Given the description of an element on the screen output the (x, y) to click on. 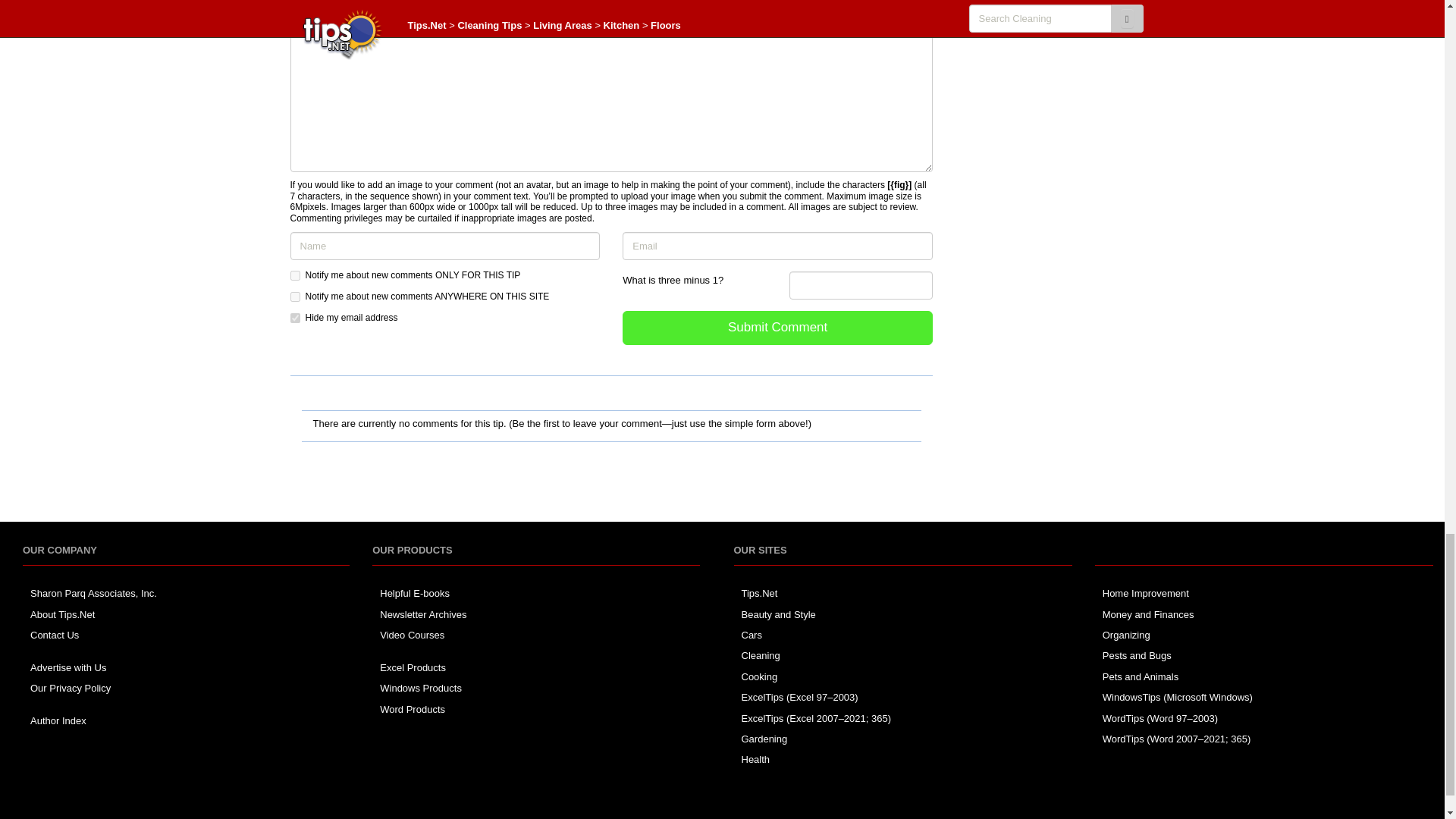
option1 (294, 275)
Video Courses (412, 634)
Contact Us (54, 634)
Author Index (57, 720)
Submit Comment (778, 327)
Helpful E-books (414, 593)
Newsletter Archives (422, 614)
About Tips.Net (62, 614)
Excel Products (412, 667)
Advertise with Us (68, 667)
